Given the description of an element on the screen output the (x, y) to click on. 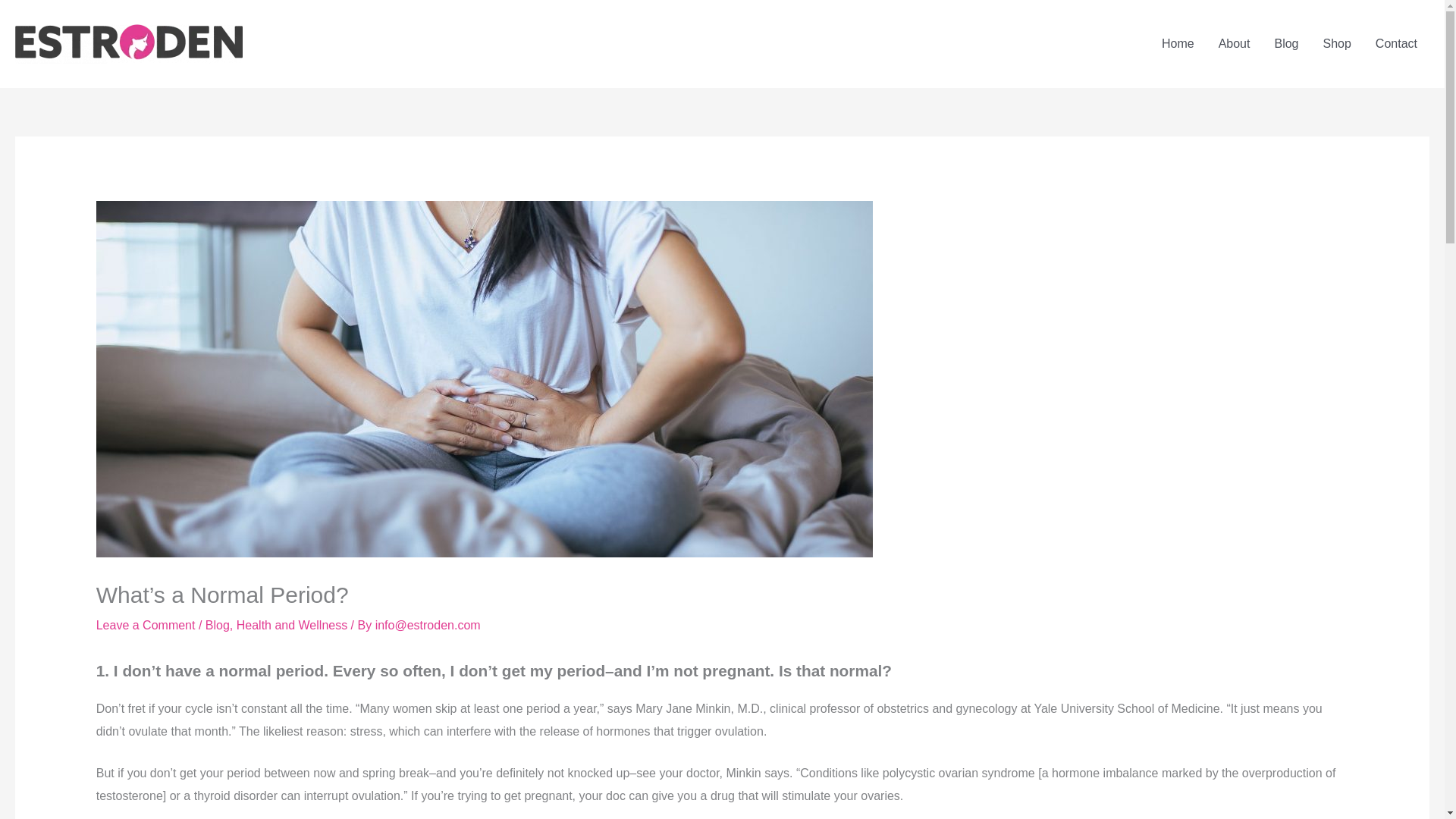
Contact (1395, 43)
Home (1178, 43)
Blog (1286, 43)
Shop (1336, 43)
Health and Wellness (291, 625)
Blog (217, 625)
Leave a Comment (145, 625)
About (1234, 43)
